Given the description of an element on the screen output the (x, y) to click on. 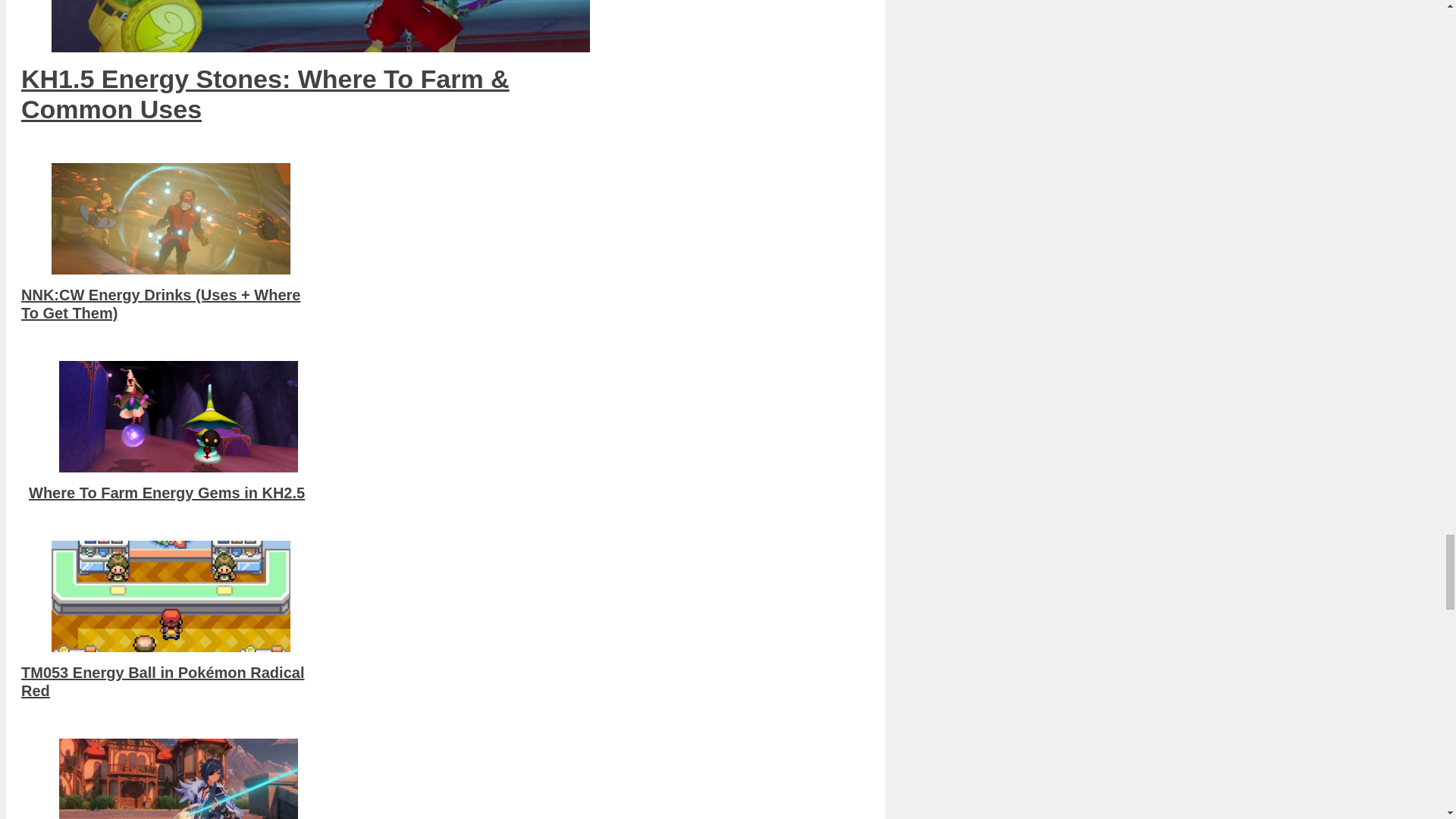
Where To Farm Energy Gems in KH2.5 (179, 431)
Where To Farm Energy Gems in KH2.5 (178, 416)
